Given the description of an element on the screen output the (x, y) to click on. 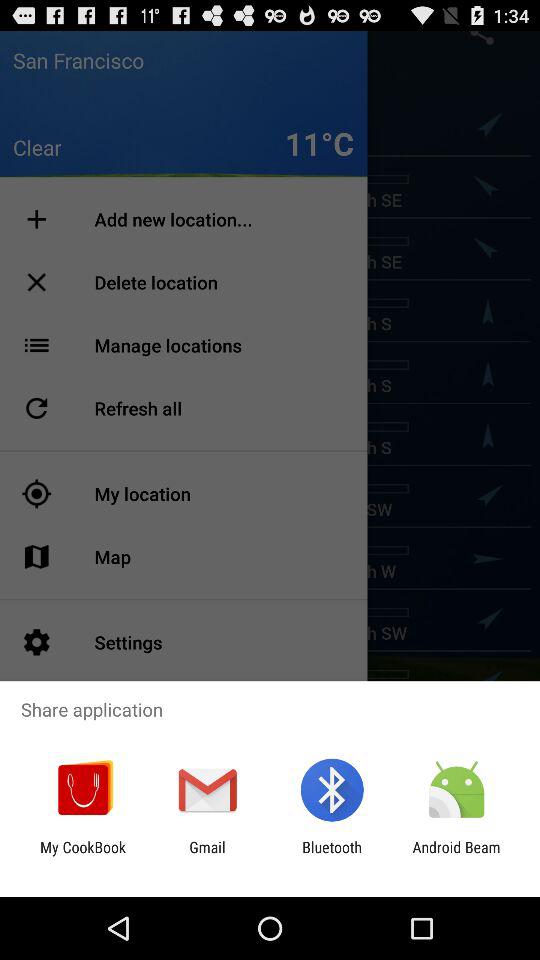
tap icon to the right of bluetooth item (456, 856)
